Given the description of an element on the screen output the (x, y) to click on. 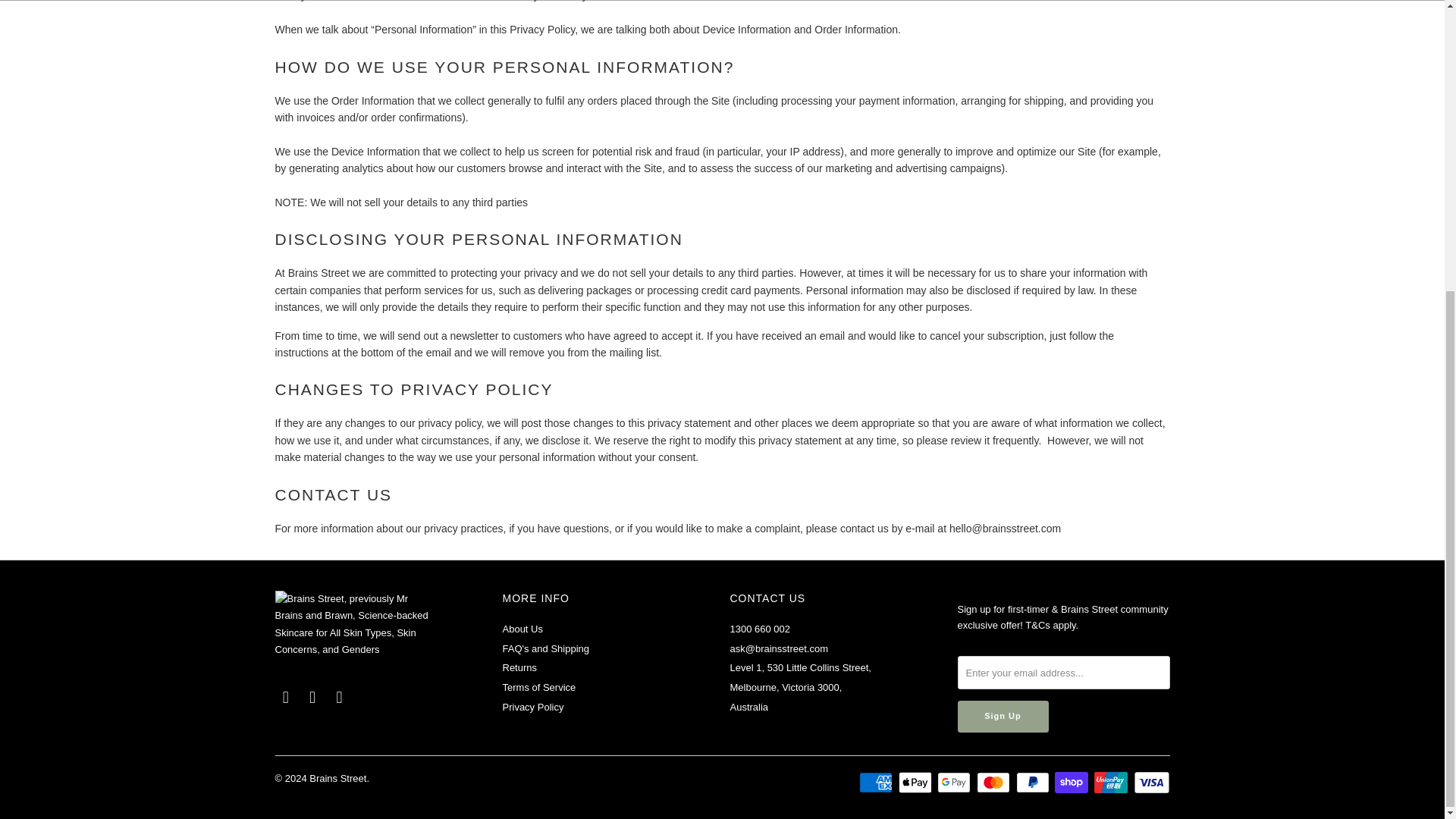
Brains Street on Instagram (312, 697)
American Express (877, 782)
Union Pay (1112, 782)
Apple Pay (916, 782)
Mastercard (994, 782)
Shop Pay (1072, 782)
Google Pay (955, 782)
Visa (1150, 782)
PayPal (1034, 782)
Email Brains Street (339, 697)
